Given the description of an element on the screen output the (x, y) to click on. 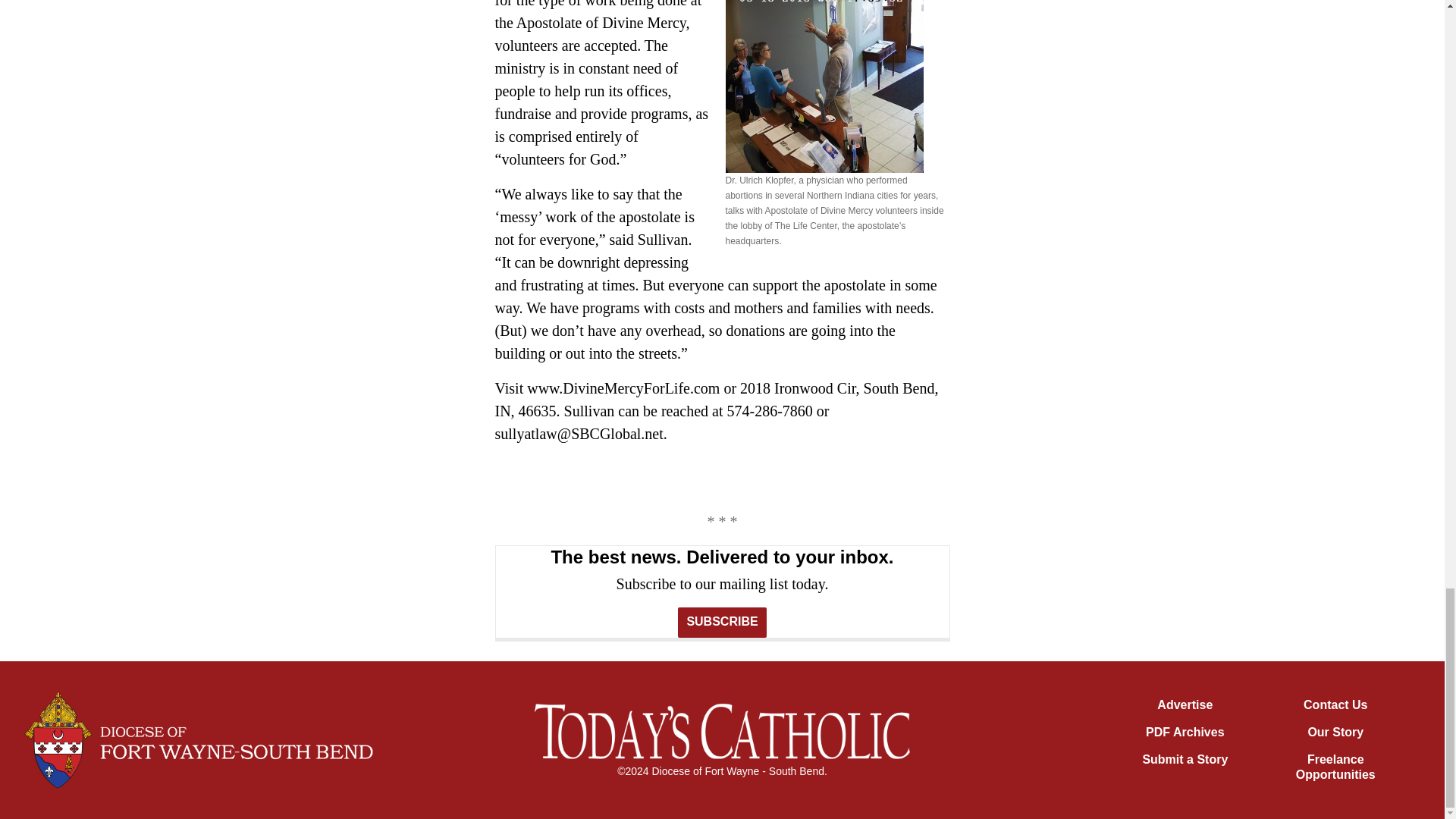
Freelance Opportunities (1335, 766)
Submit a Story (1184, 758)
Advertise (1184, 704)
Our Story (1334, 731)
SUBSCRIBE (722, 622)
Contact Us (1335, 704)
PDF Archives (1184, 731)
